Given the description of an element on the screen output the (x, y) to click on. 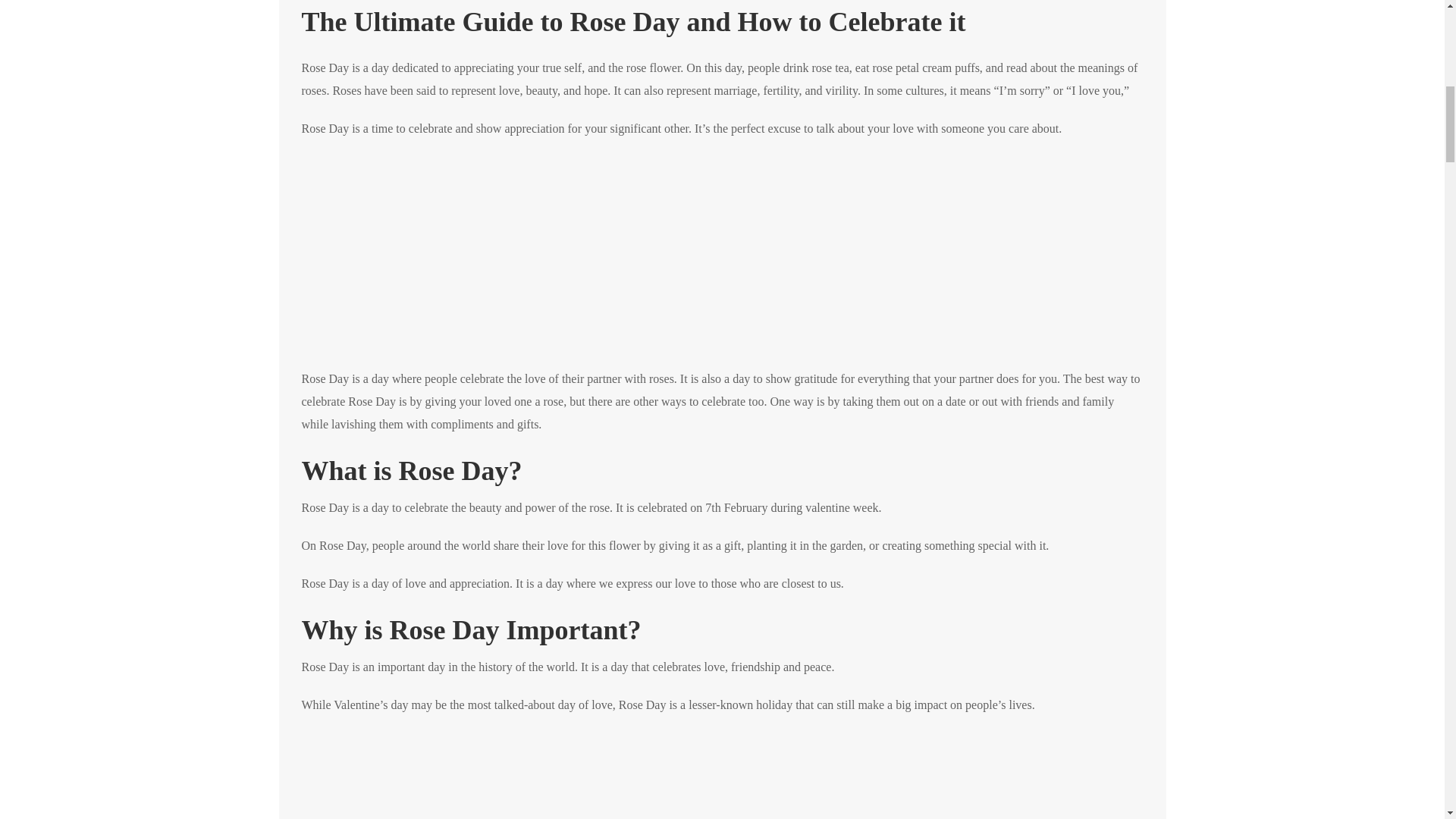
Advertisement (721, 775)
